Given the description of an element on the screen output the (x, y) to click on. 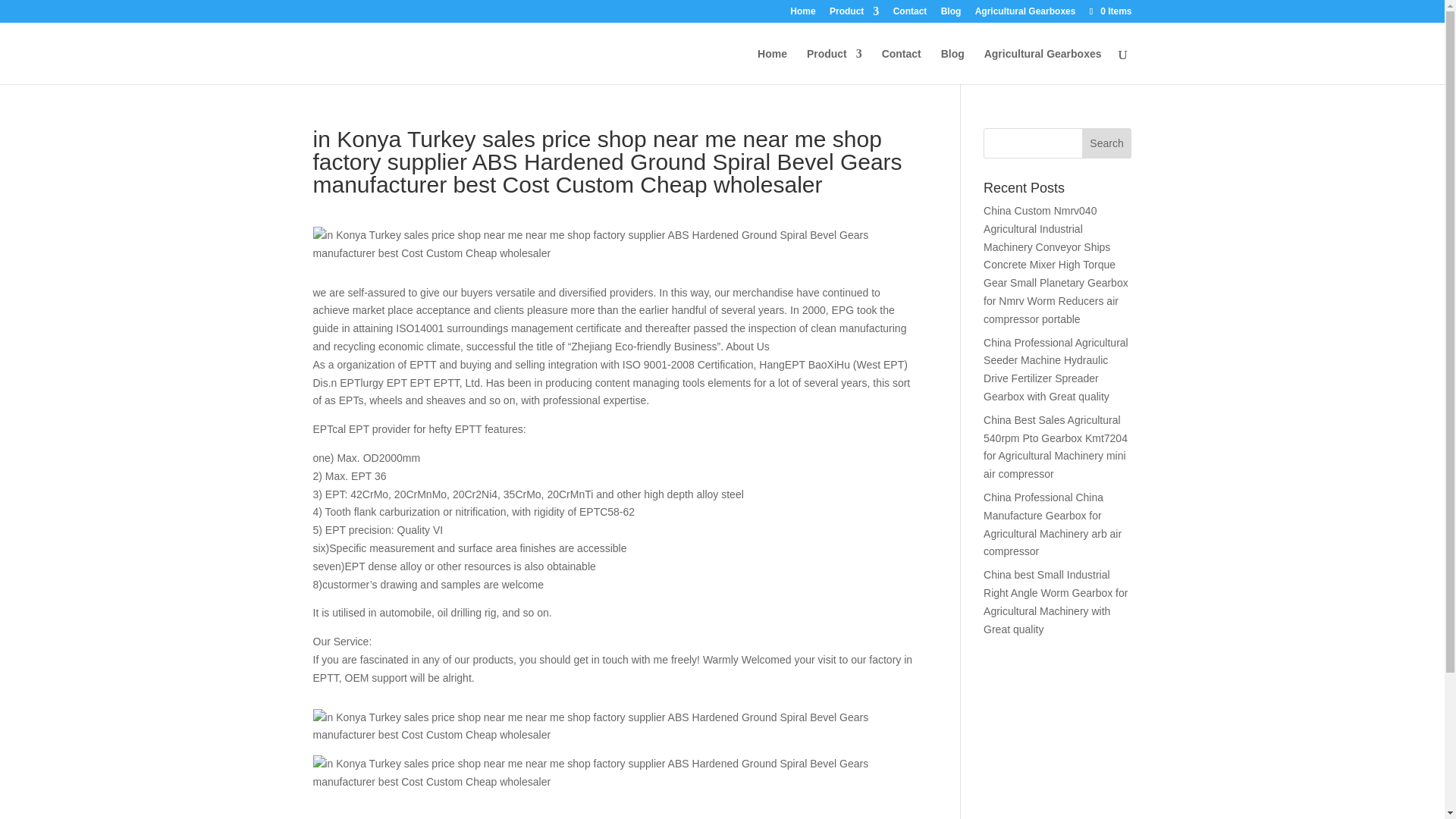
Agricultural Gearboxes (1025, 14)
Contact (910, 14)
Search (1106, 142)
Contact (901, 66)
0 Items (1108, 10)
Product (833, 66)
Product (854, 14)
Home (802, 14)
